Given the description of an element on the screen output the (x, y) to click on. 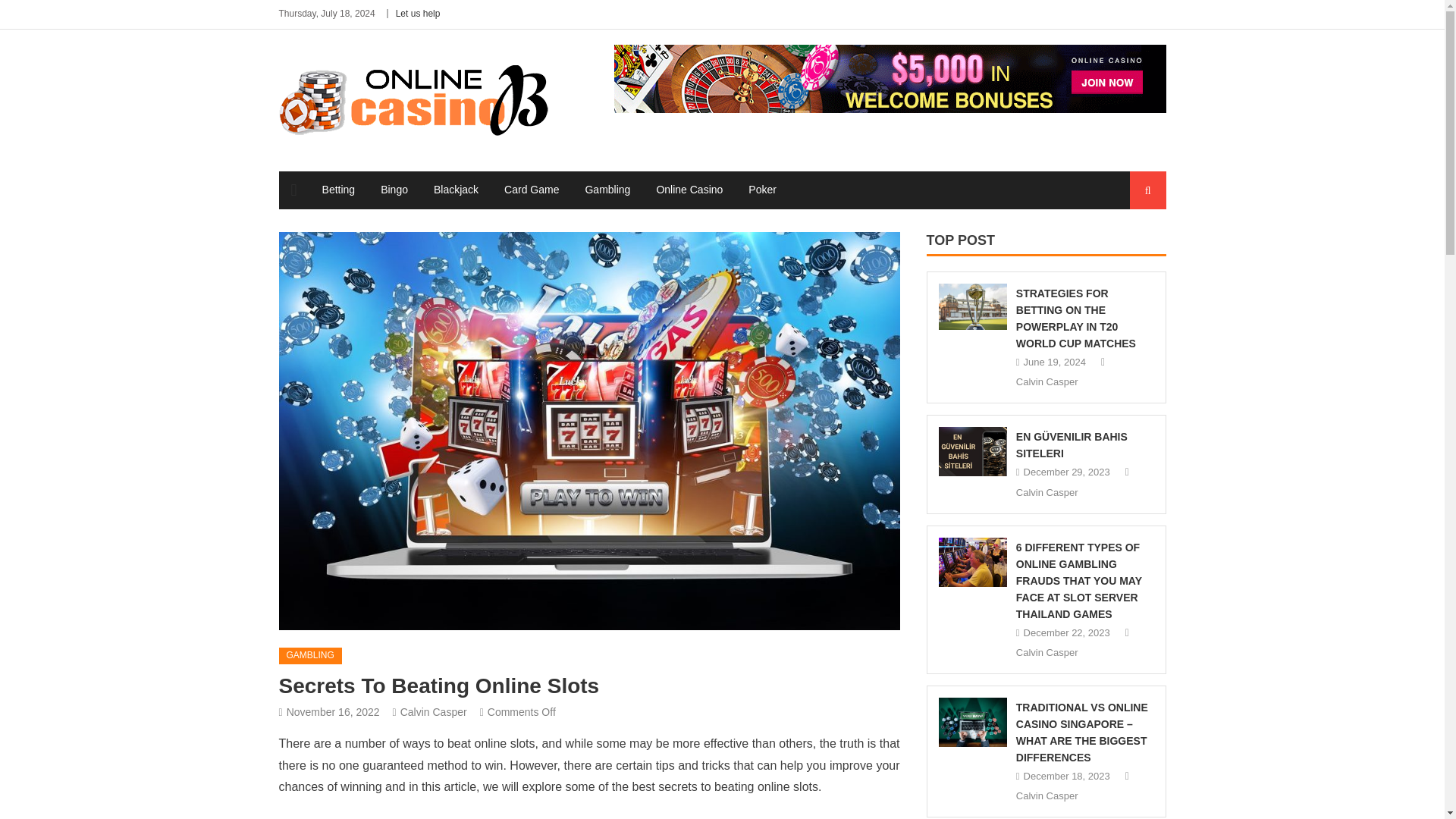
Bingo (394, 189)
Online Casino (689, 189)
Blackjack (455, 189)
Poker (761, 189)
Betting (338, 189)
November 16, 2022 (333, 711)
Search (1133, 247)
Card Game (531, 189)
GAMBLING (310, 655)
Let us help (418, 13)
Calvin Casper (433, 711)
Gambling (607, 189)
